Given the description of an element on the screen output the (x, y) to click on. 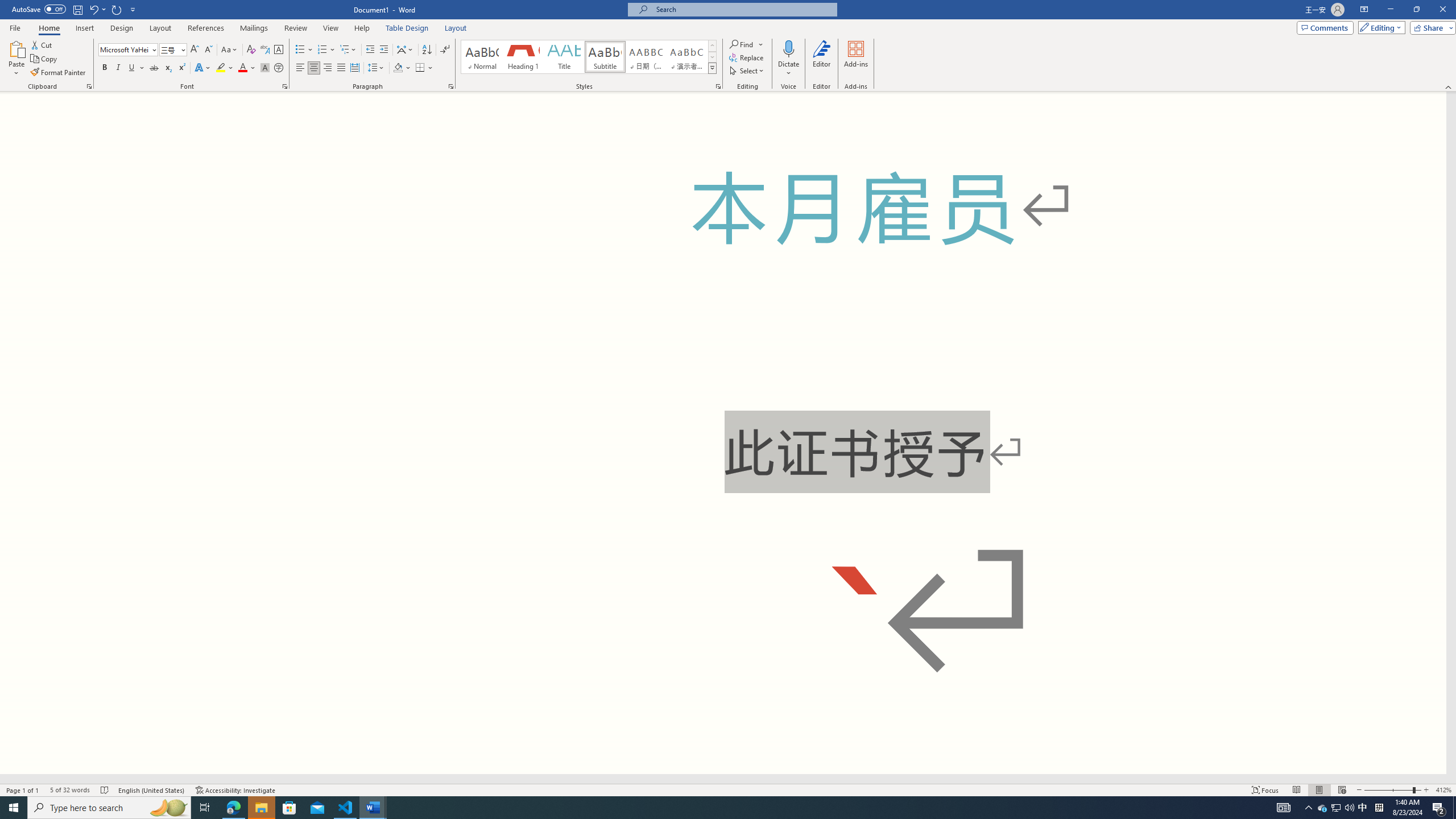
Decrease Indent (370, 49)
Text Highlight Color (224, 67)
File Tab (15, 27)
Text Highlight Color Yellow (220, 67)
Find (742, 44)
Strikethrough (154, 67)
Quick Access Toolbar (74, 9)
Bullets (304, 49)
Paste (16, 58)
Asian Layout (405, 49)
Font Color (246, 67)
Spelling and Grammar Check No Errors (105, 790)
Superscript (180, 67)
AutoSave (38, 9)
Styles (711, 67)
